Given the description of an element on the screen output the (x, y) to click on. 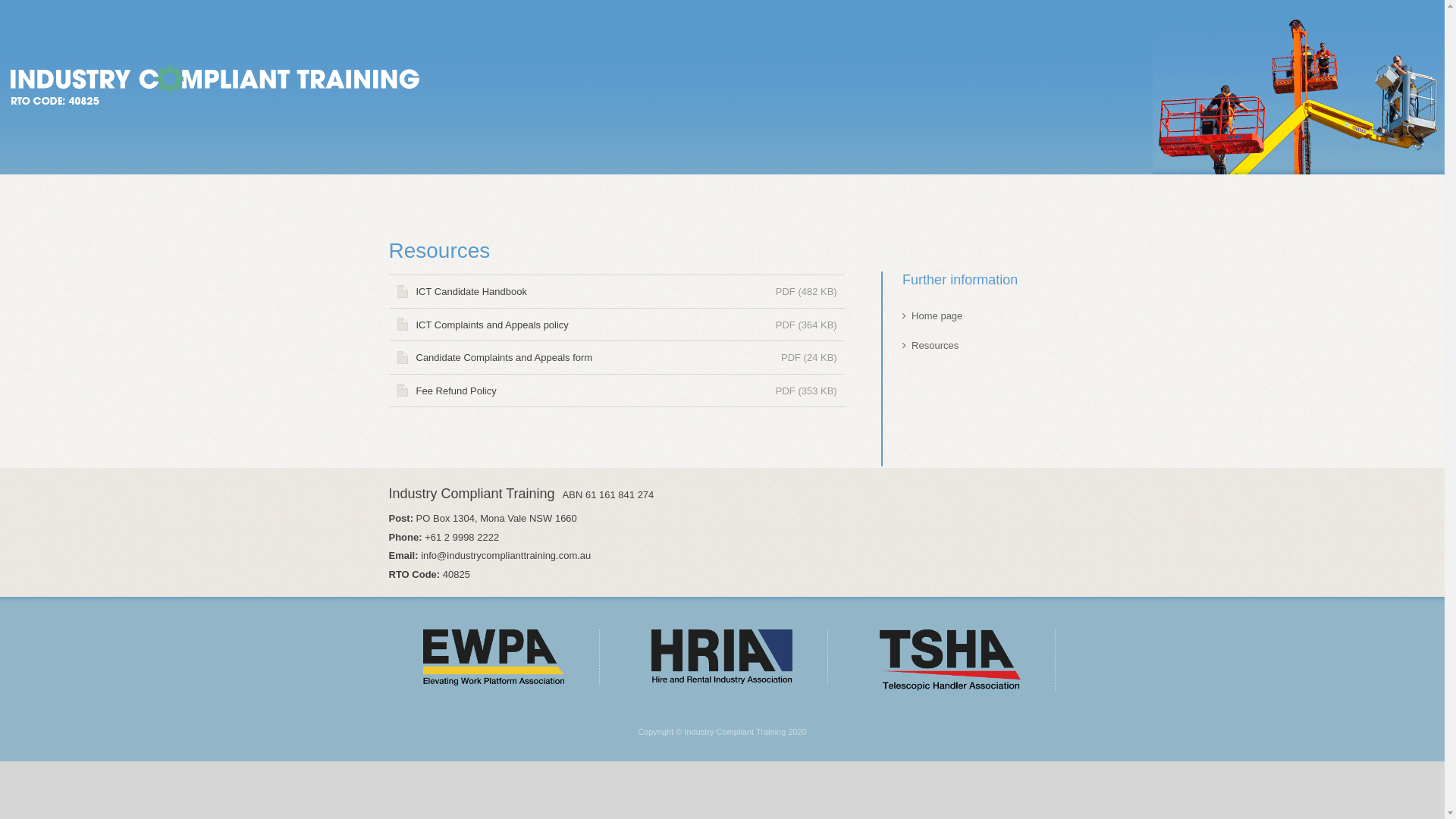
ICT Candidate Handbook
PDF (482 KB) Element type: text (616, 291)
Candidate Complaints and Appeals form
PDF (24 KB) Element type: text (616, 357)
Home page Element type: text (936, 315)
Resources Element type: text (934, 345)
ICT Complaints and Appeals policy
PDF (364 KB) Element type: text (616, 324)
info@industrycomplianttraining.com.au Element type: text (505, 555)
Fee Refund Policy
PDF (353 KB) Element type: text (616, 390)
